Given the description of an element on the screen output the (x, y) to click on. 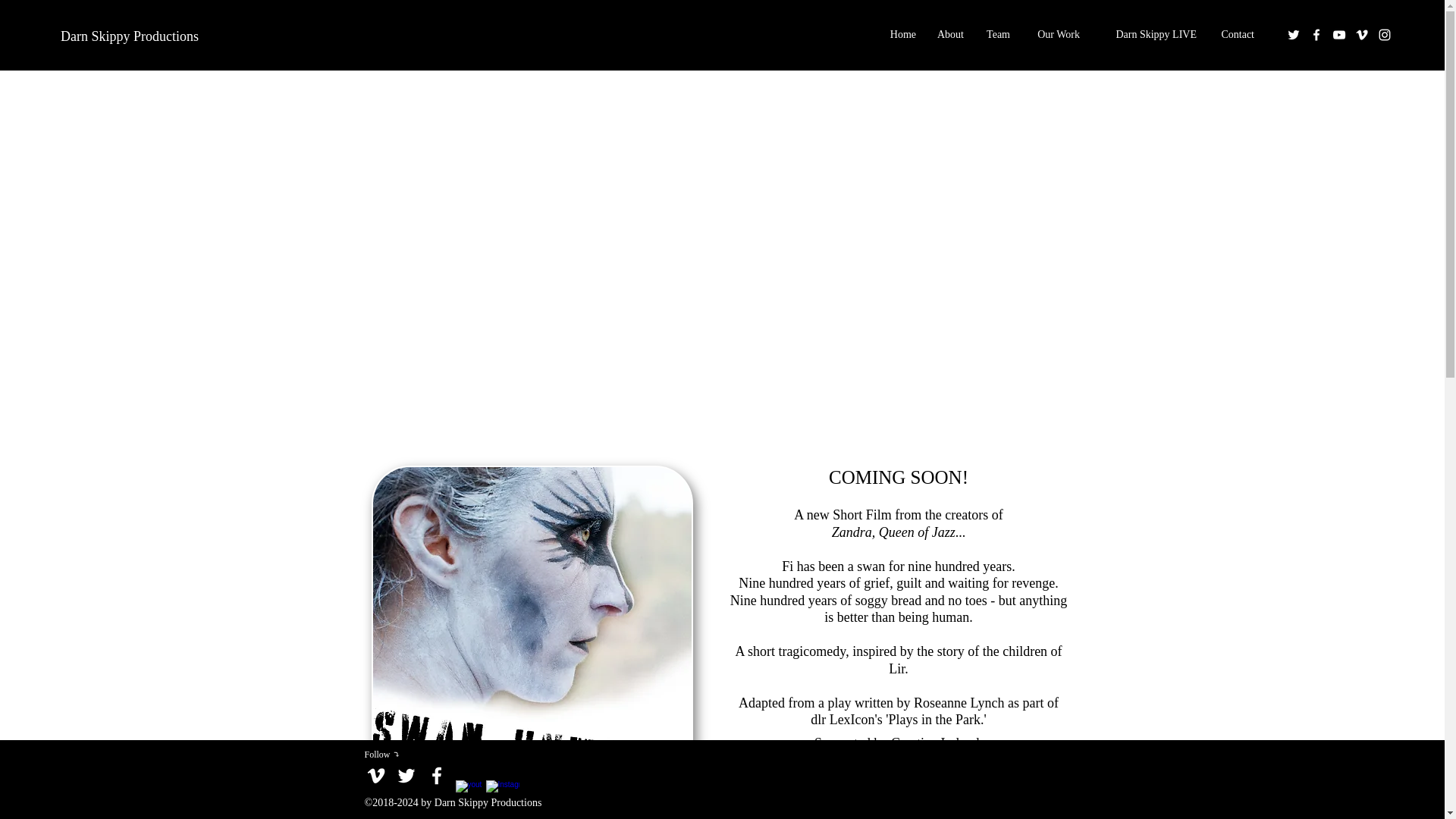
Our Work (1052, 34)
Darn Skippy LIVE (1145, 34)
Darn Skippy Productions (129, 37)
Team (994, 34)
Home (899, 34)
About (947, 34)
Contact (1233, 34)
